Given the description of an element on the screen output the (x, y) to click on. 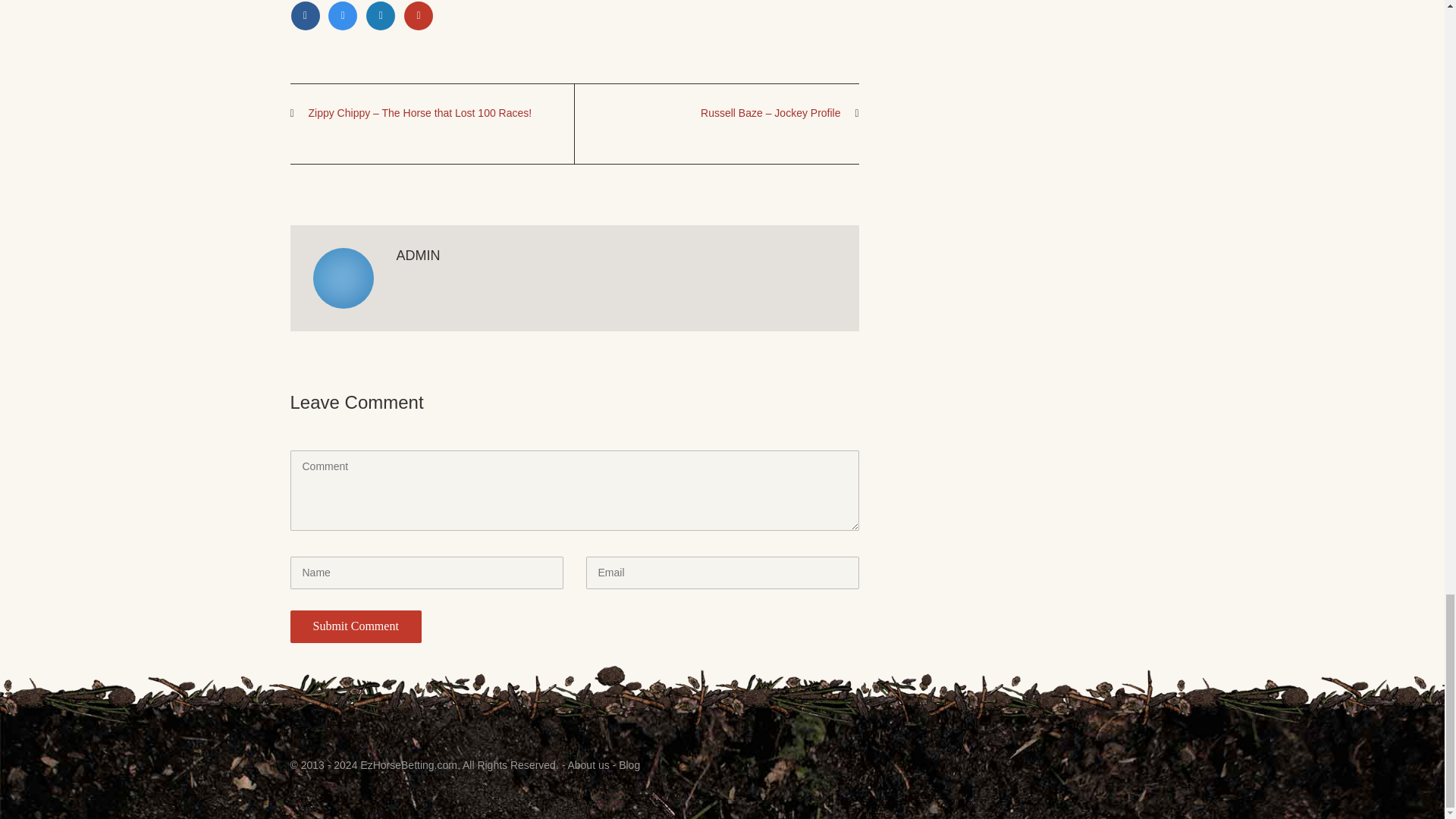
Submit Comment (354, 626)
